Given the description of an element on the screen output the (x, y) to click on. 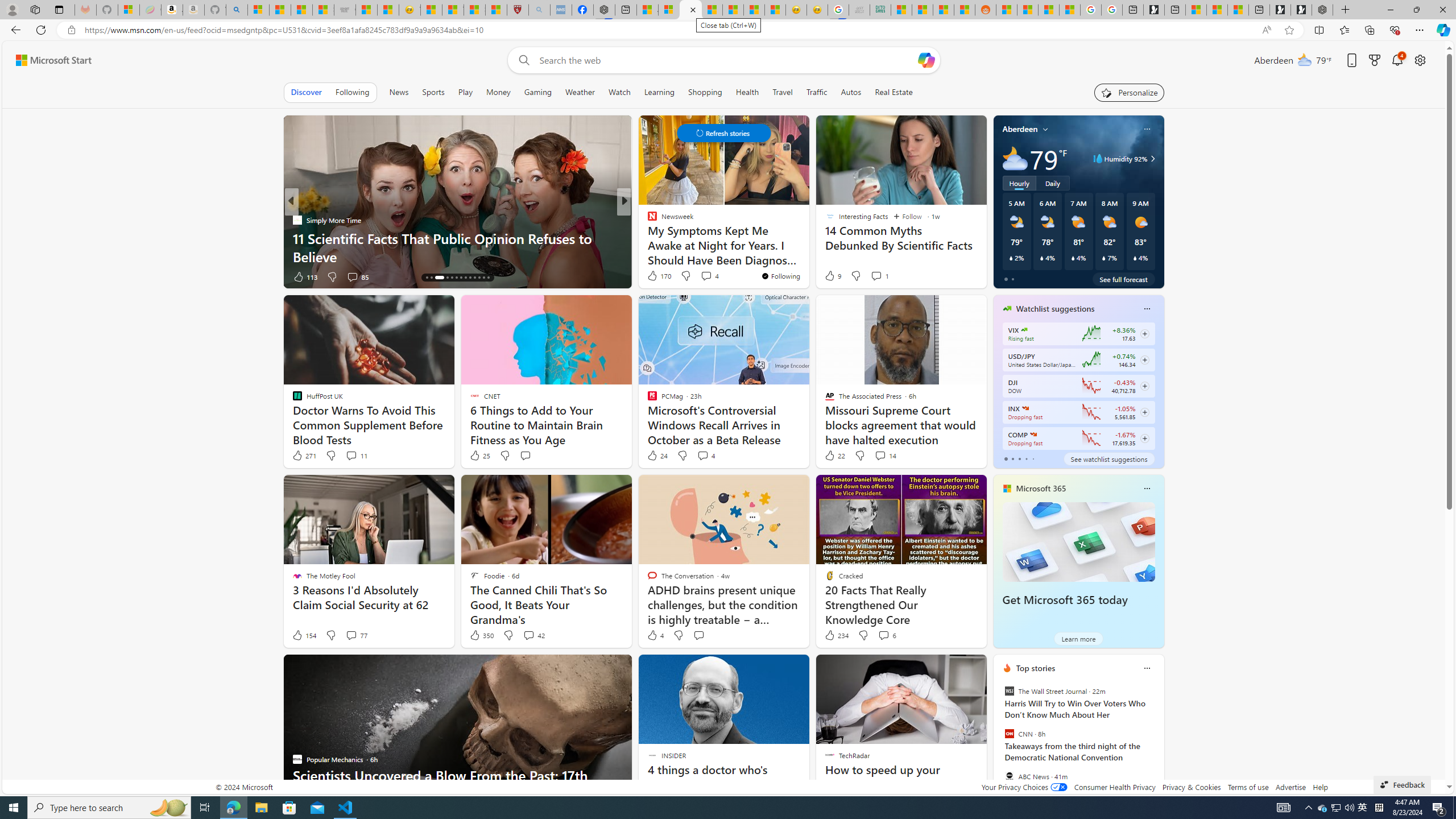
Pocket-lint (647, 238)
AutomationID: tab-21 (465, 277)
You're following Newsweek (780, 275)
View comments 73 Comment (707, 276)
See watchlist suggestions (1108, 459)
View comments 5 Comment (698, 276)
104 Like (654, 276)
Get Microsoft 365 today (1077, 541)
636 Like (654, 276)
